Given the description of an element on the screen output the (x, y) to click on. 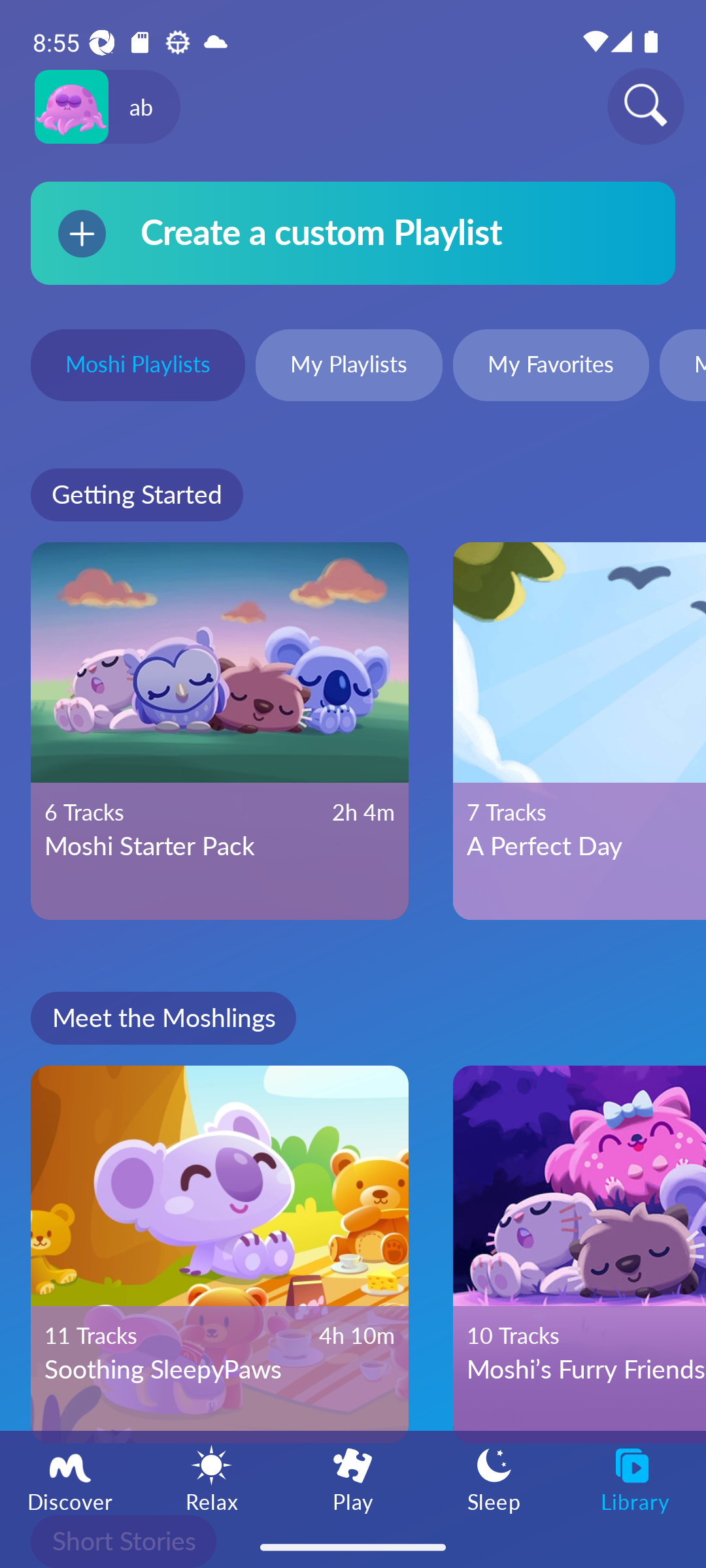
Profile icon ab (107, 107)
Create a custom Playlist (352, 233)
Moshi Playlists (137, 367)
My Playlists (348, 367)
My Favorites (550, 367)
Featured Content 6 Tracks Moshi Starter Pack 2h 4m (219, 731)
Featured Content 7 Tracks A Perfect Day (579, 731)
Featured Content 10 Tracks Moshi’s Furry Friends (579, 1254)
Discover (70, 1478)
Relax (211, 1478)
Play (352, 1478)
Sleep (493, 1478)
